Given the description of an element on the screen output the (x, y) to click on. 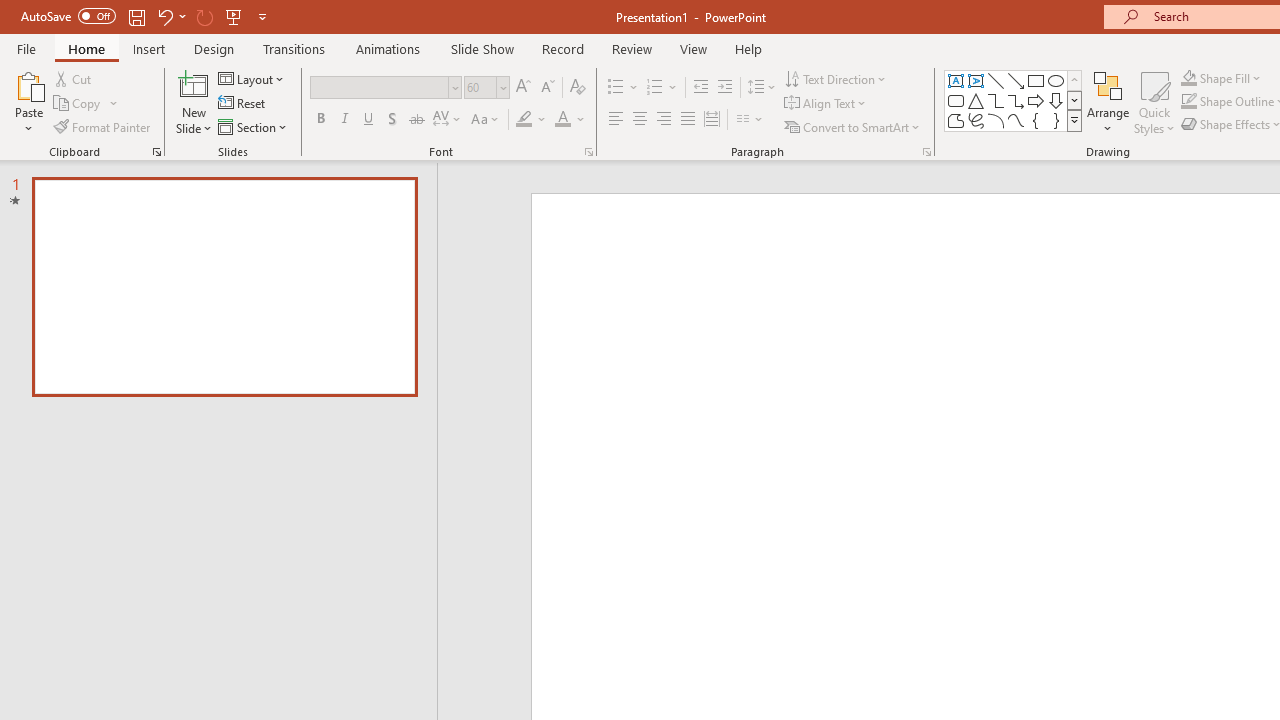
Shape Outline Blue, Accent 1 (1188, 101)
